Given the description of an element on the screen output the (x, y) to click on. 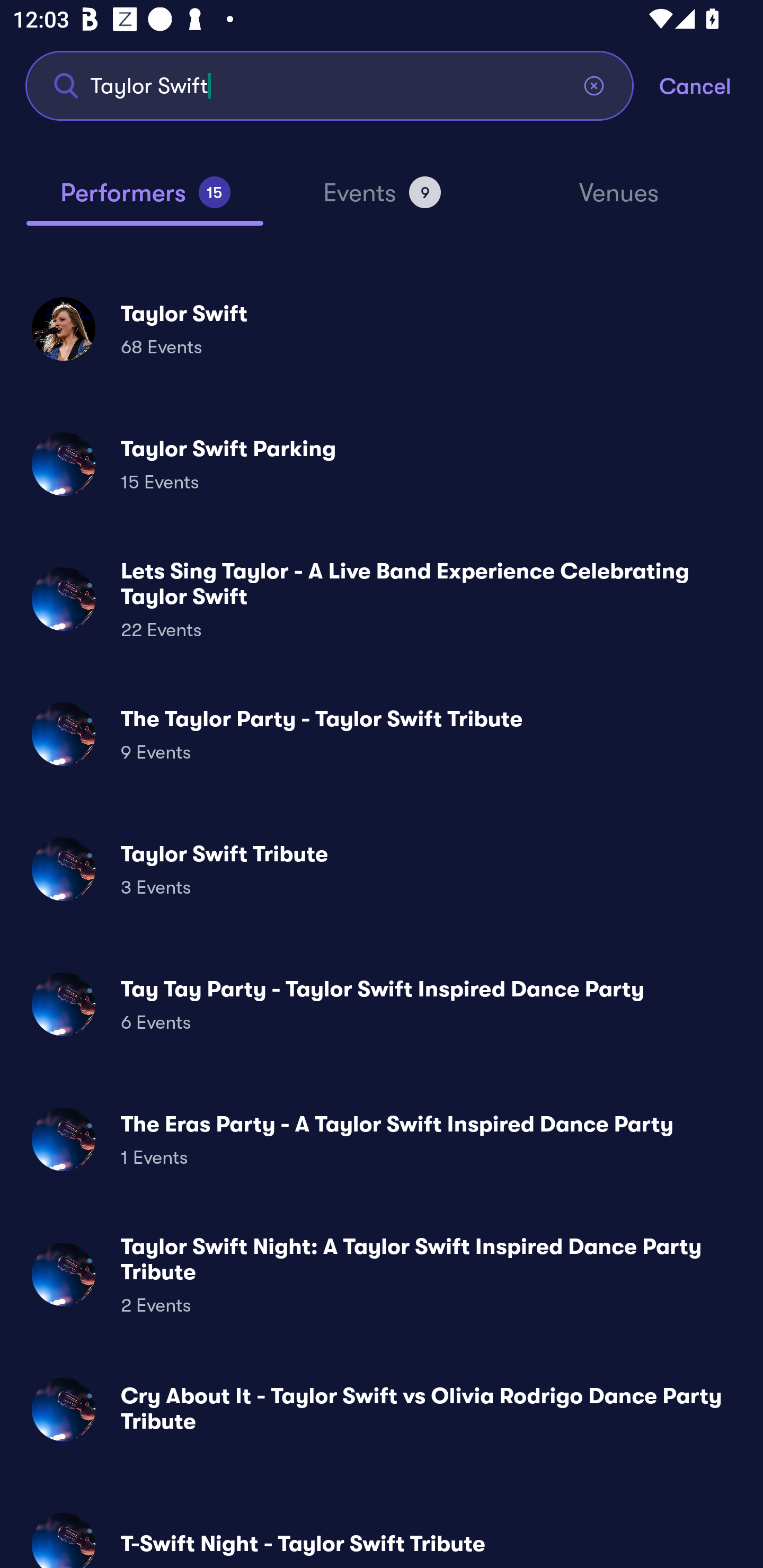
Cancel (711, 85)
Taylor Swift Find (329, 85)
Taylor Swift Find (329, 85)
Performers 15 (144, 200)
Events 9 (381, 200)
Venues (618, 201)
Taylor Swift 68 Events (381, 328)
Taylor Swift Parking 15 Events (381, 464)
The Taylor Party - Taylor Swift Tribute 9 Events (381, 734)
Taylor Swift Tribute 3 Events (381, 869)
T-Swift Night - Taylor Swift Tribute (381, 1532)
